Given the description of an element on the screen output the (x, y) to click on. 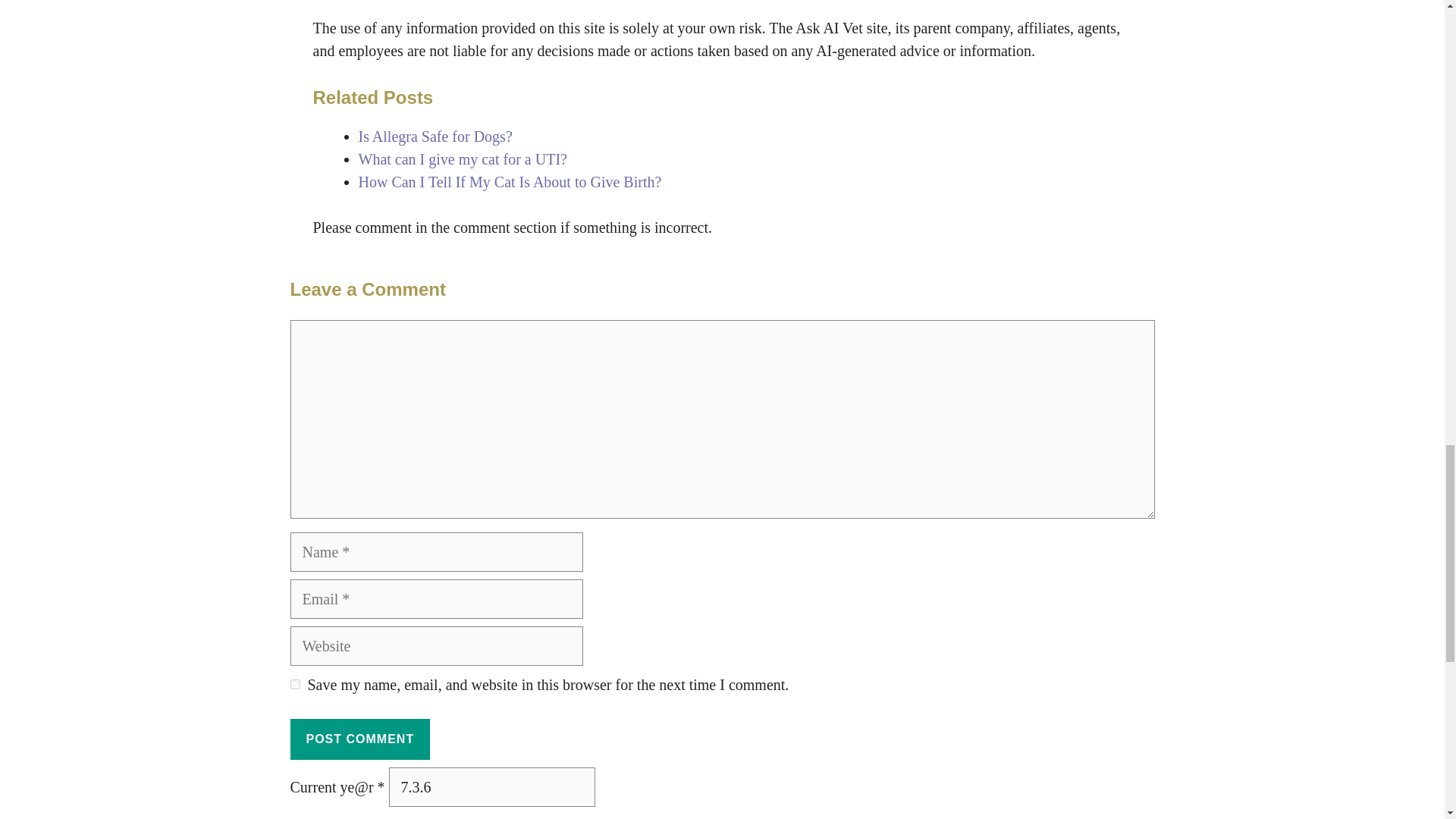
Post Comment (359, 739)
What can I give my cat for a UTI? (462, 158)
7.3.6 (491, 786)
How Can I Tell If My Cat Is About to Give Birth? (509, 181)
Post Comment (359, 739)
yes (294, 684)
Is Allegra Safe for Dogs? (435, 135)
